Given the description of an element on the screen output the (x, y) to click on. 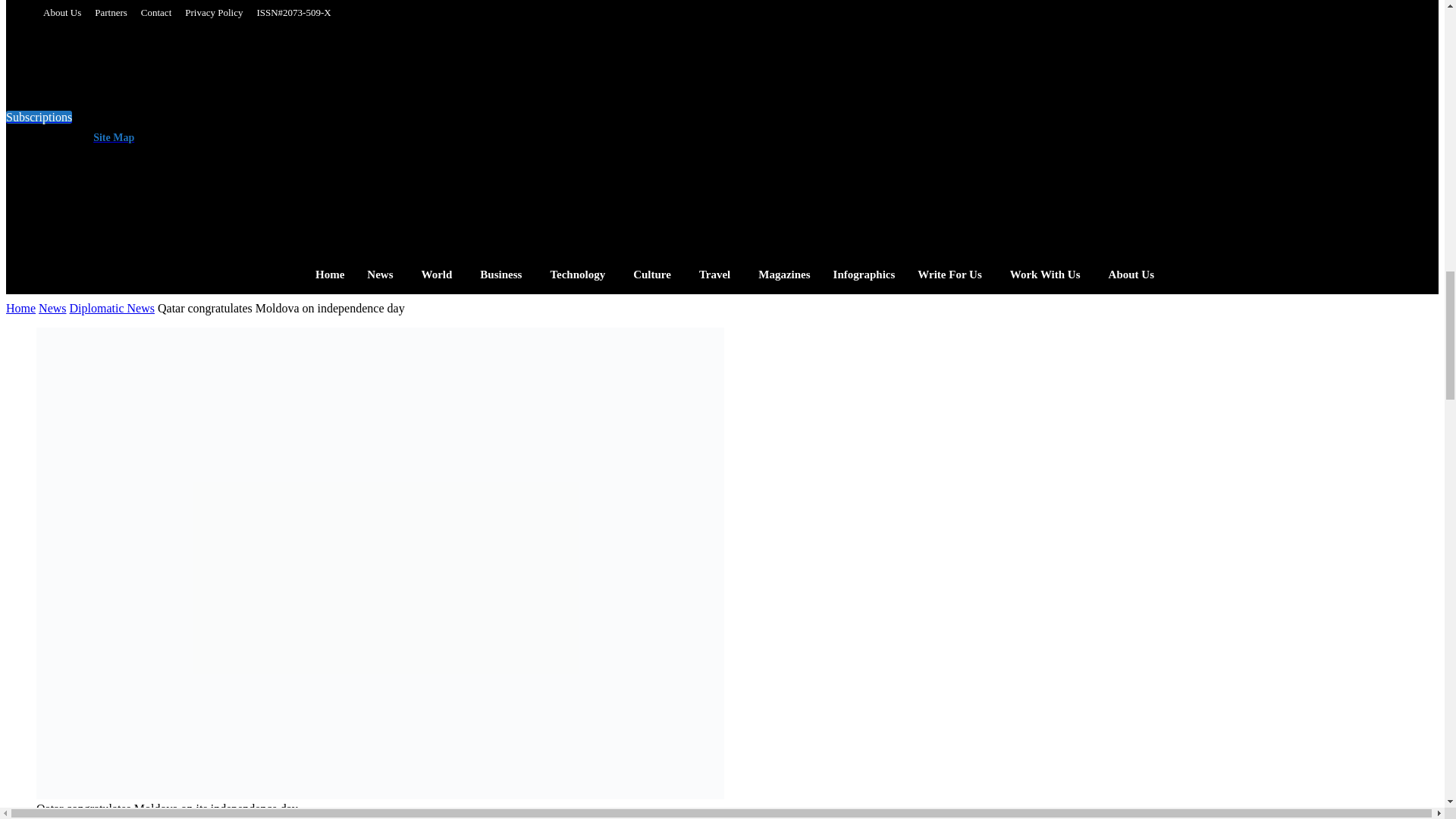
Youtube (443, 131)
Site Map (110, 137)
Instagram (352, 131)
Facebook (321, 131)
Subscriptions (38, 116)
Linkedin (382, 131)
View all posts in Diplomatic News (111, 308)
View all posts in News (52, 308)
Twitter (412, 131)
